Given the description of an element on the screen output the (x, y) to click on. 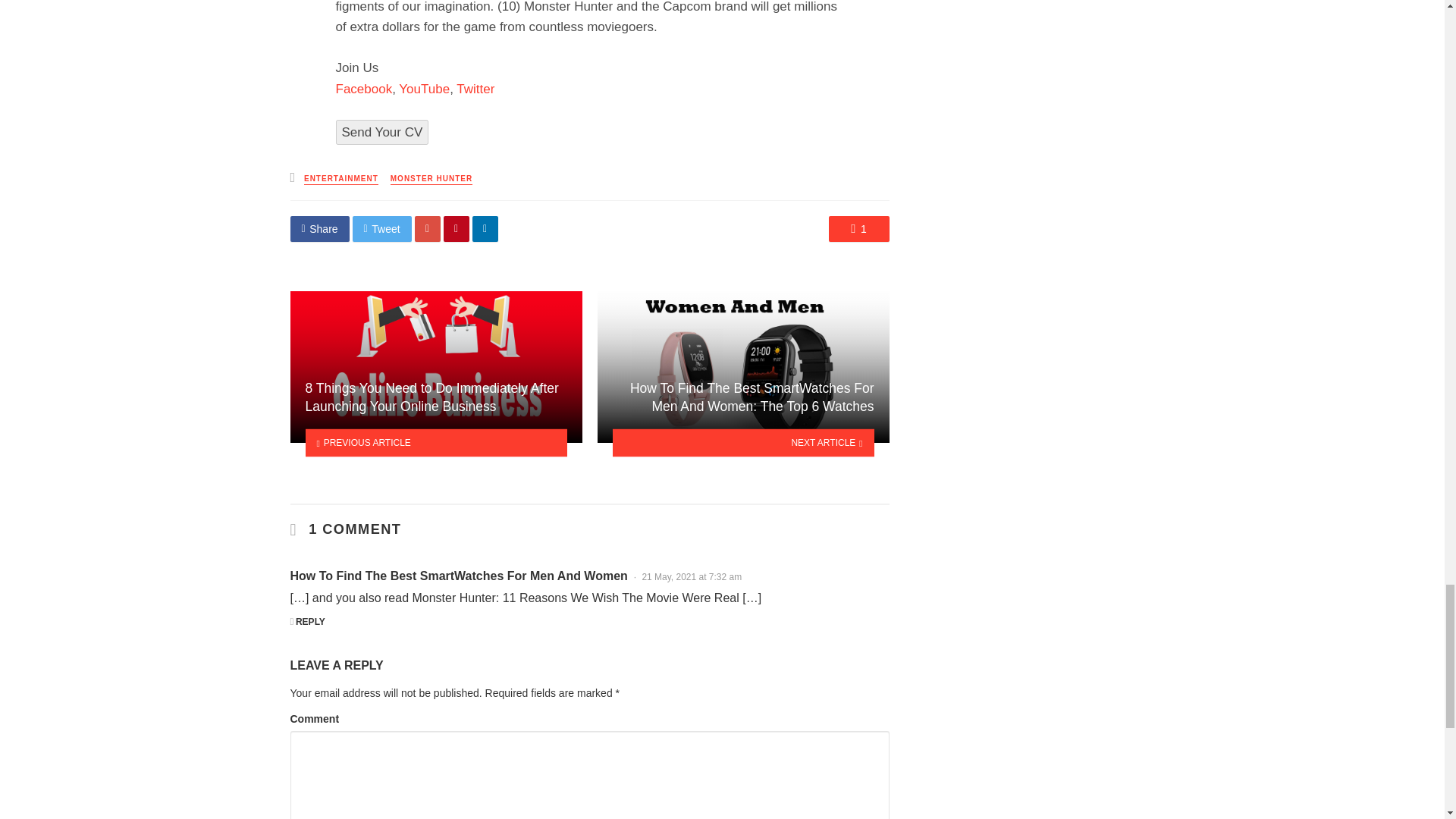
Share (319, 228)
YouTube (423, 88)
Facebook (362, 88)
Twitter (476, 88)
Tweet (382, 228)
Send Your CV (381, 131)
MONSTER HUNTER (430, 179)
ENTERTAINMENT (341, 179)
